Given the description of an element on the screen output the (x, y) to click on. 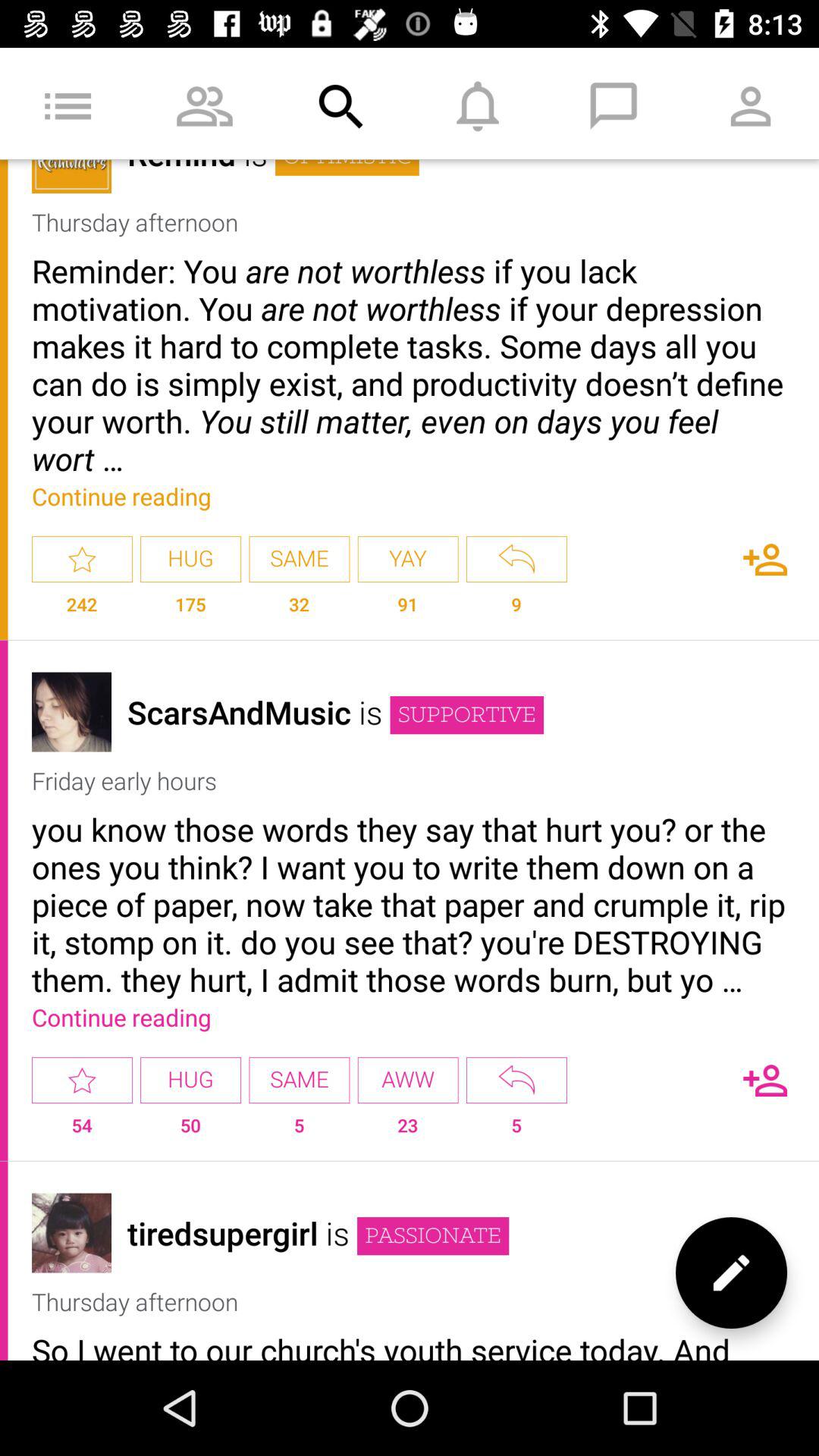
scroll to 175 icon (190, 610)
